Given the description of an element on the screen output the (x, y) to click on. 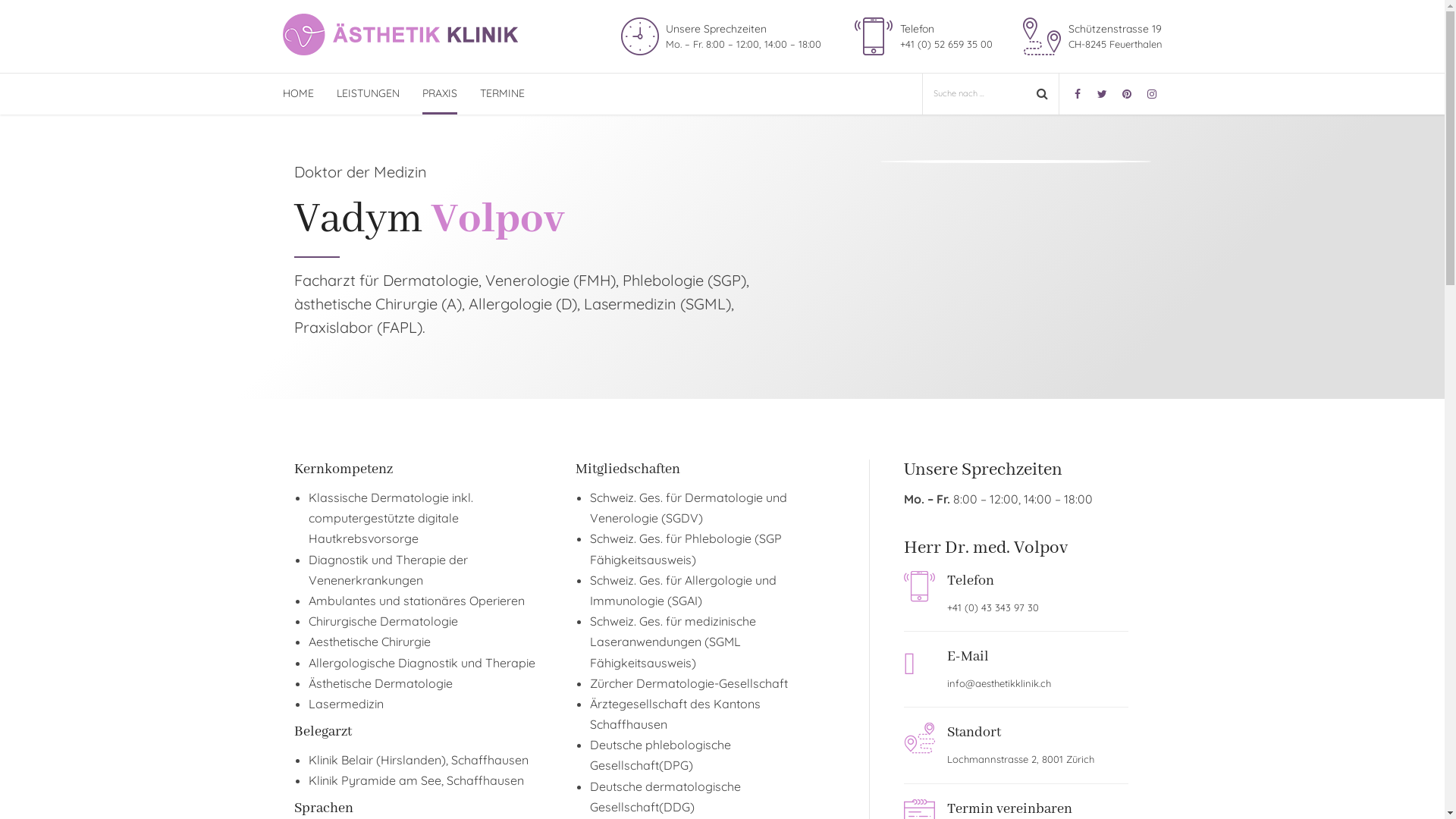
Telefon 
+41 (0) 52 659 35 00 Element type: text (921, 36)
HOME Element type: text (297, 93)
TERMINE Element type: text (501, 93)
info@aesthetikklinik.ch Element type: text (999, 683)
LEISTUNGEN Element type: text (367, 93)
PRAXIS Element type: text (438, 93)
+41 (0) 43 343 97 30 Element type: text (992, 607)
